Given the description of an element on the screen output the (x, y) to click on. 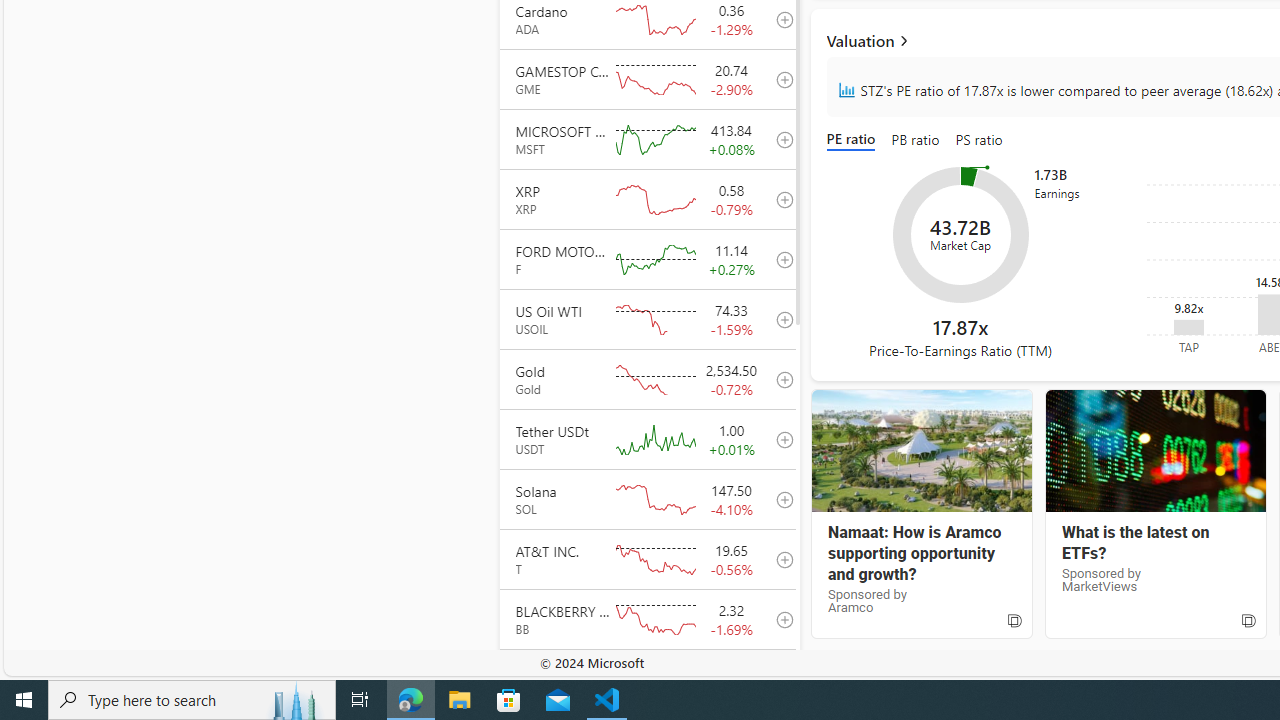
MarketViews (1154, 451)
PE ratio (854, 140)
PB ratio (915, 140)
PS ratio (979, 140)
Class: recharts-surface (959, 234)
